Given the description of an element on the screen output the (x, y) to click on. 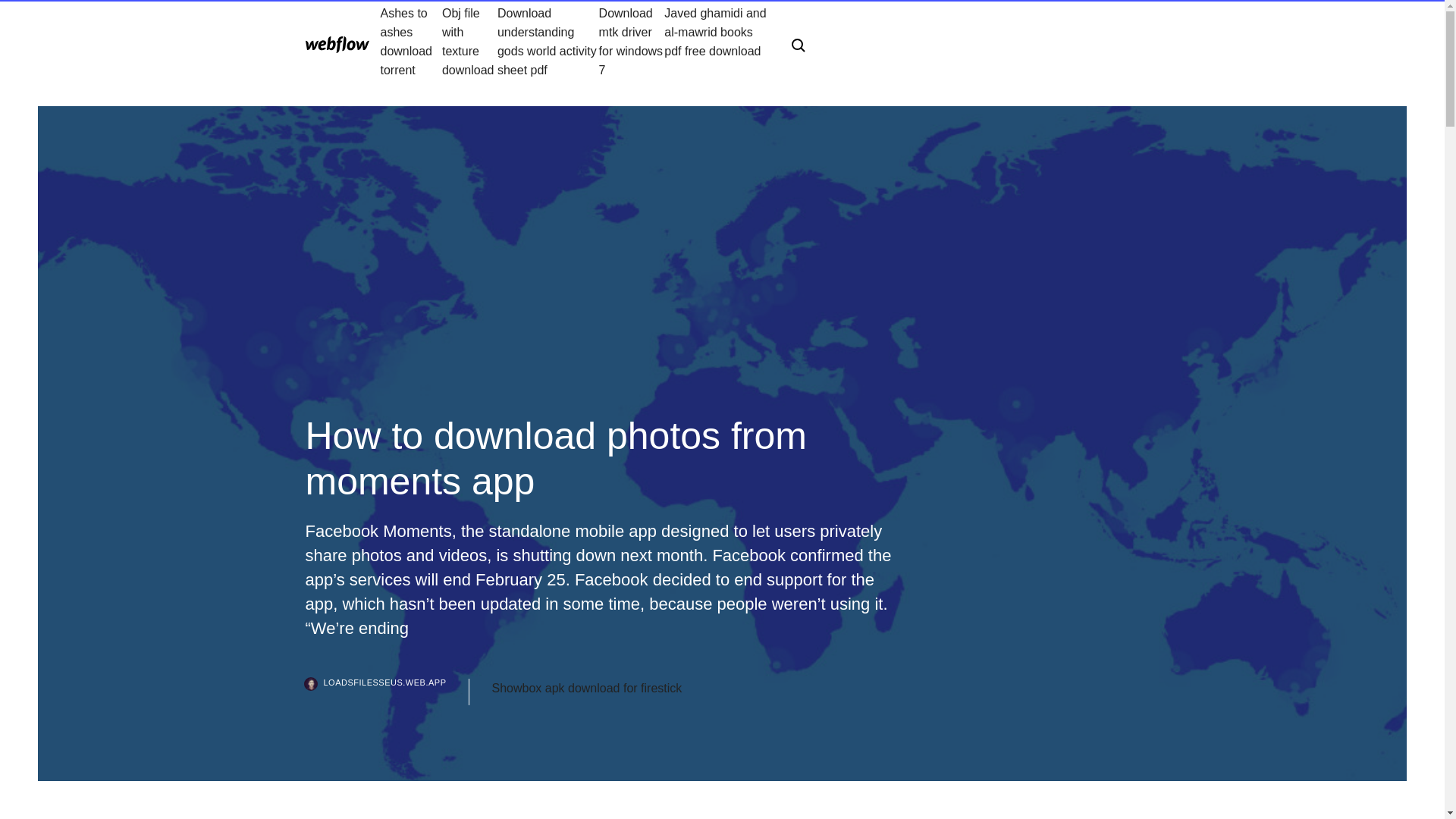
Download understanding gods world activity sheet pdf (547, 41)
Javed ghamidi and al-mawrid books pdf free download (715, 41)
Showbox apk download for firestick (586, 687)
LOADSFILESSEUS.WEB.APP (386, 691)
